Given the description of an element on the screen output the (x, y) to click on. 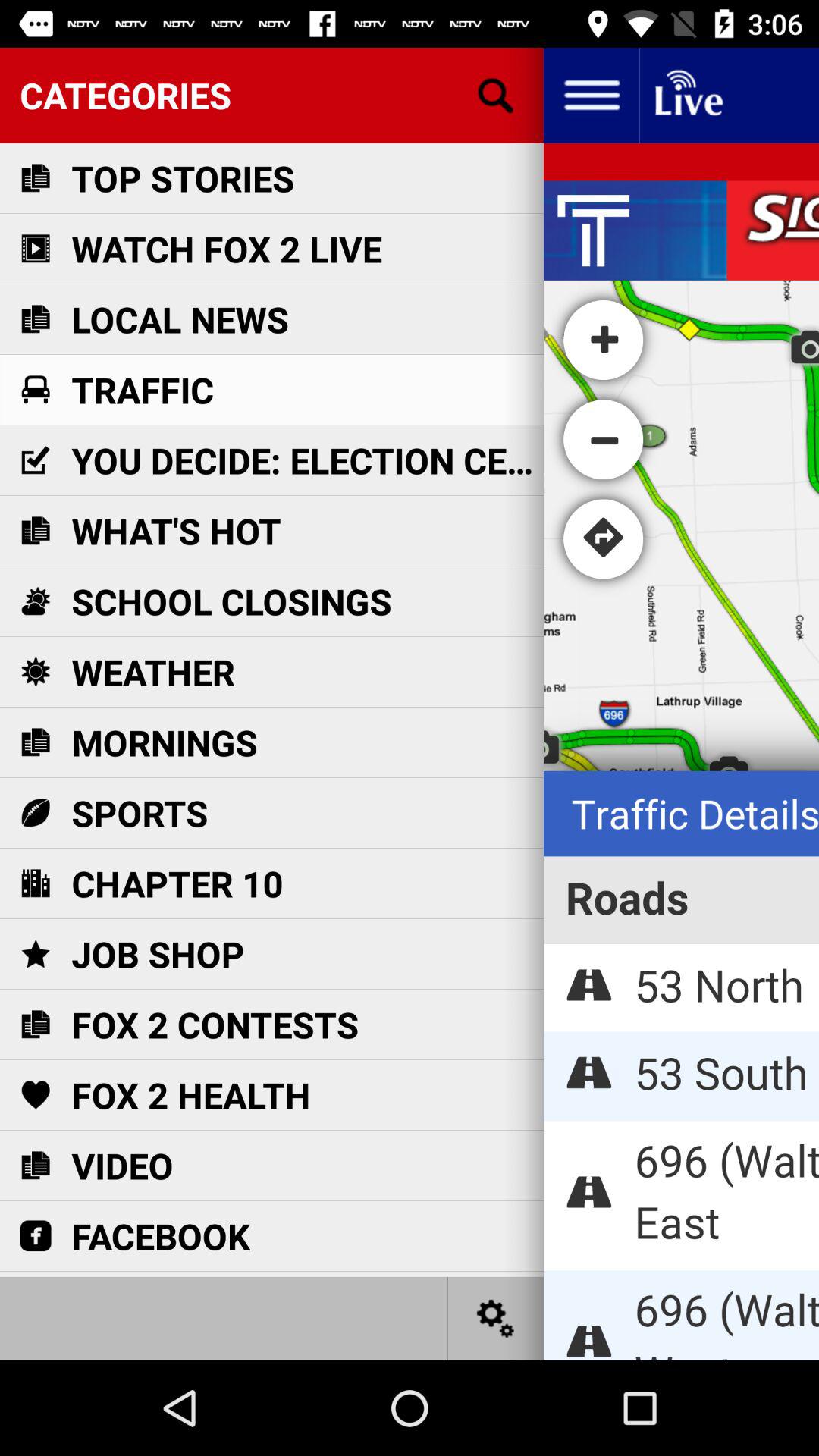
live (687, 95)
